Given the description of an element on the screen output the (x, y) to click on. 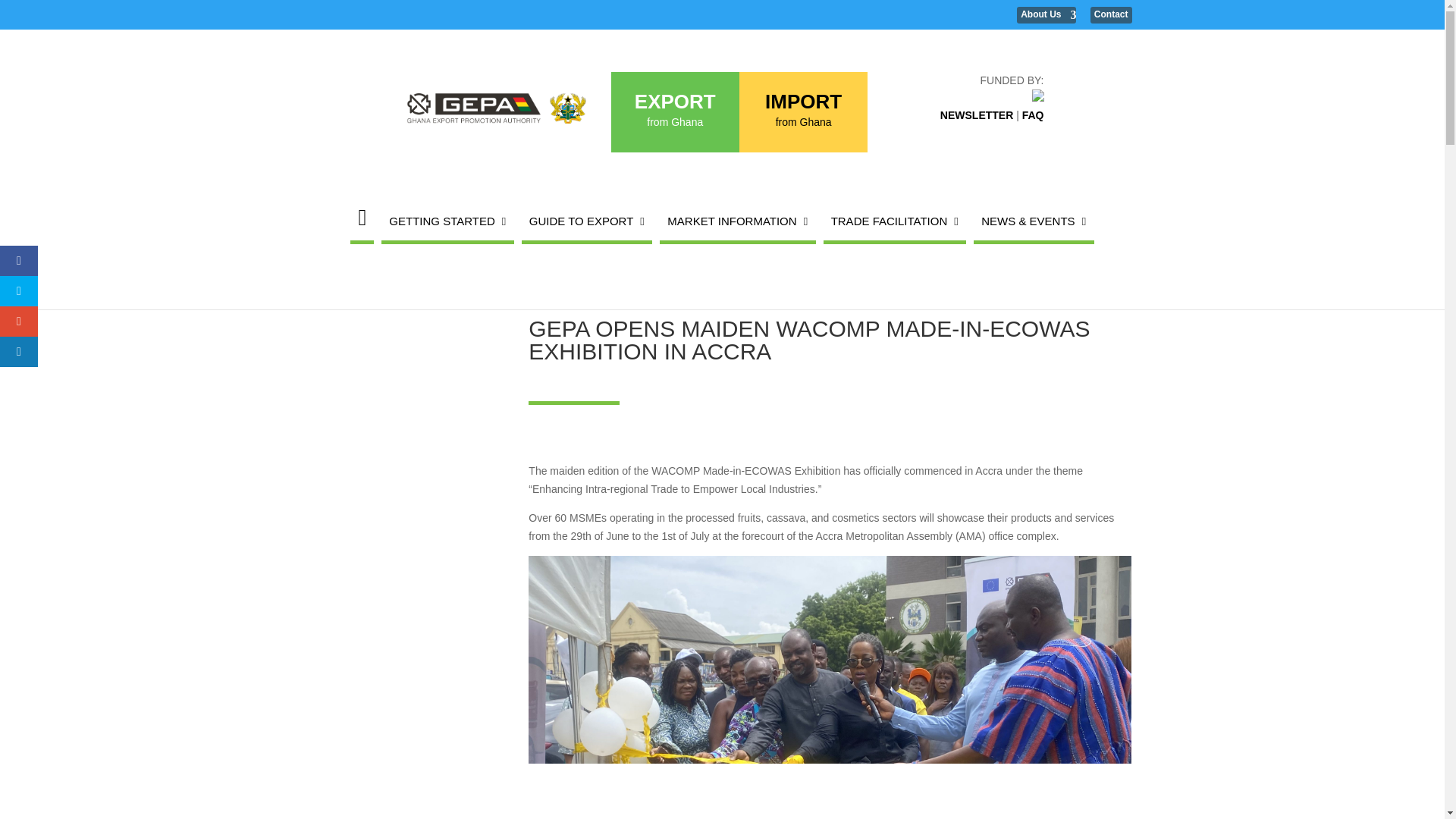
NEWSLETTER (976, 114)
GETTING STARTED (447, 220)
FAQ (1032, 114)
Contact (1111, 14)
MARKET INFORMATION (737, 220)
About Us (1045, 14)
GUIDE TO EXPORT (586, 220)
